Given the description of an element on the screen output the (x, y) to click on. 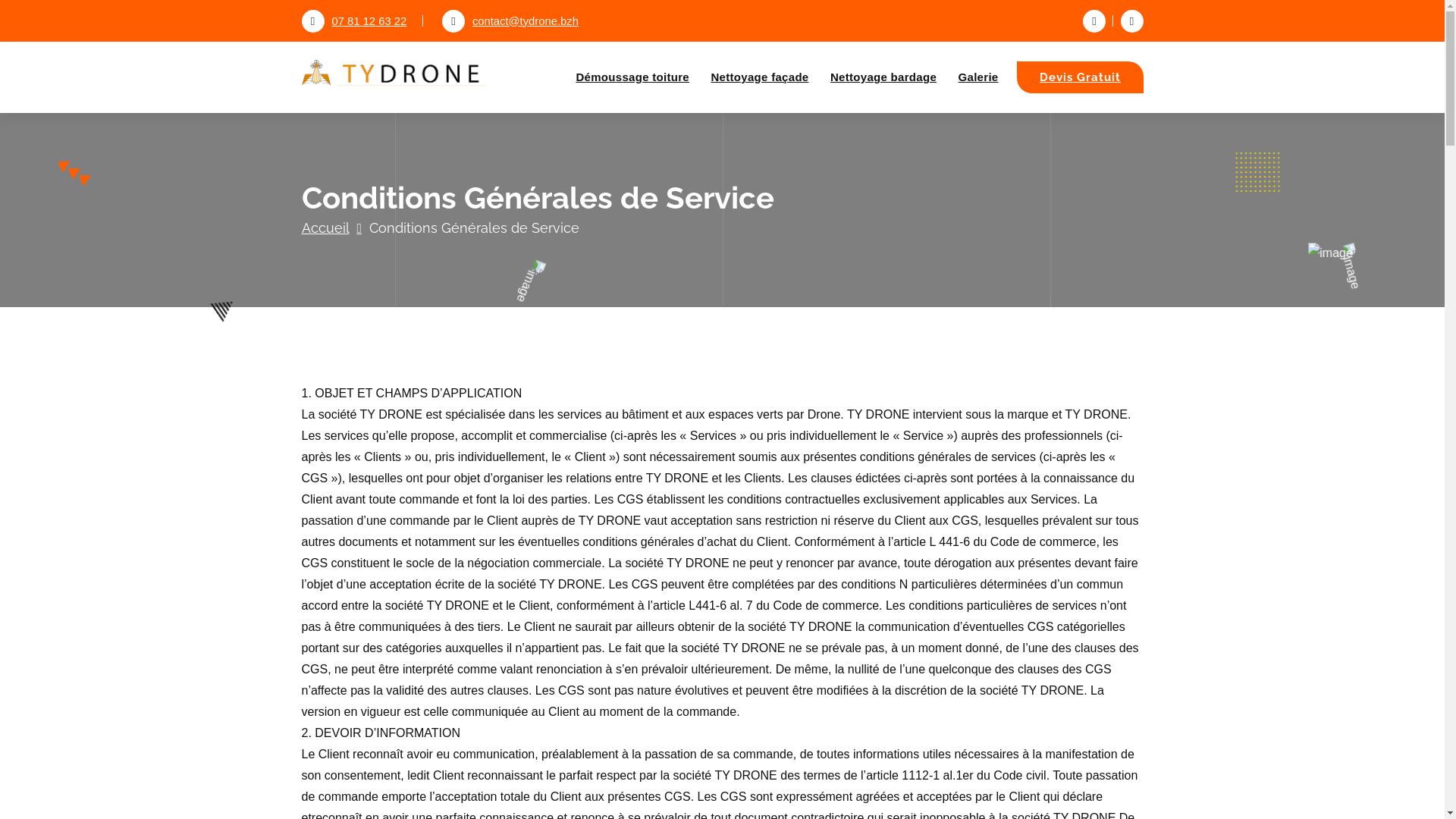
Devis Gratuit Element type: text (1079, 77)
Accueil Element type: text (331, 227)
Nettoyage bardage Element type: text (883, 77)
contact@tydrone.bzh Element type: text (510, 21)
07 81 12 63 22 Element type: text (354, 21)
Galerie Element type: text (978, 77)
